Given the description of an element on the screen output the (x, y) to click on. 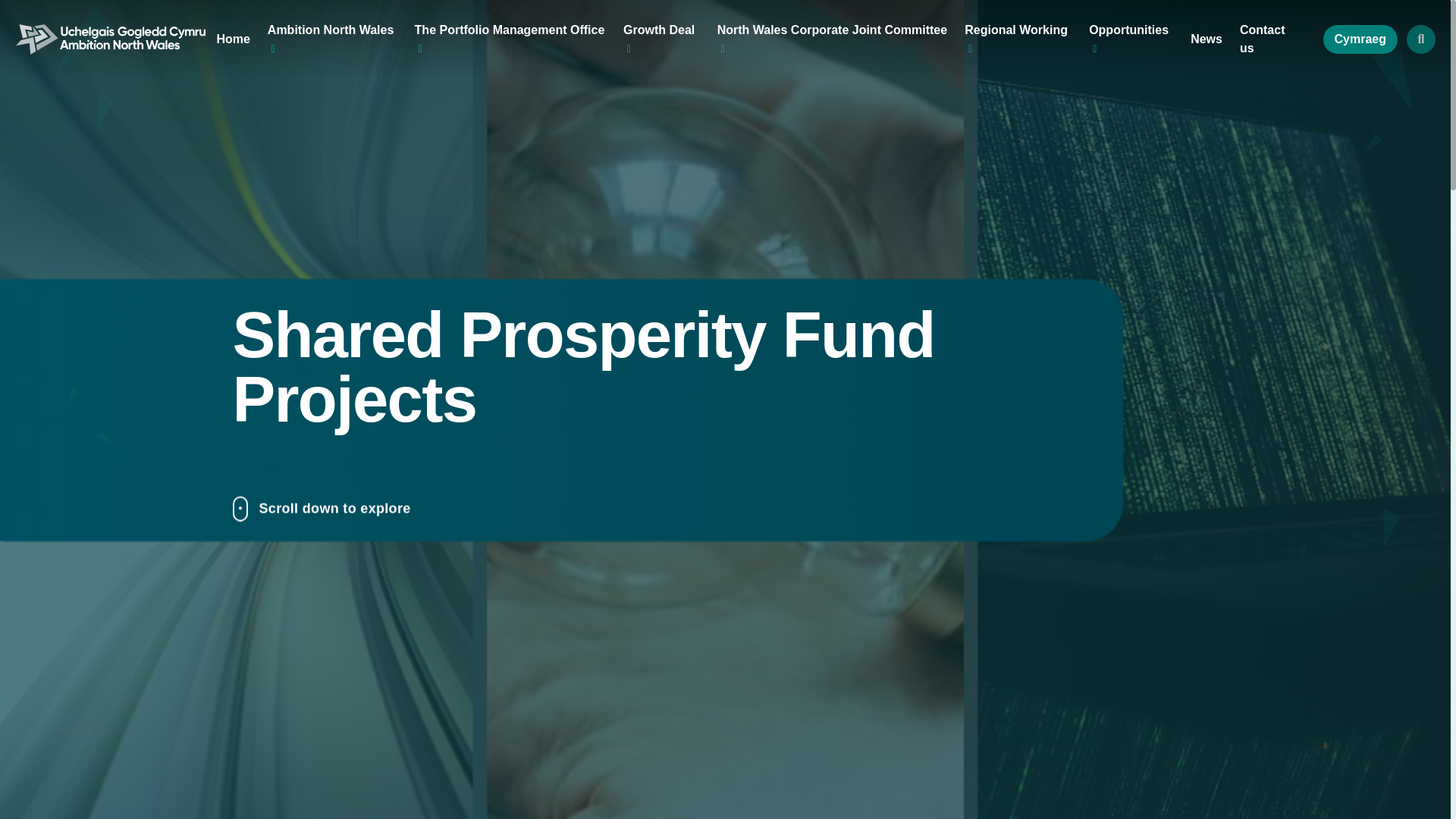
Scroll down to explore (686, 519)
Regional Working (1017, 39)
Opportunities (1130, 39)
